Given the description of an element on the screen output the (x, y) to click on. 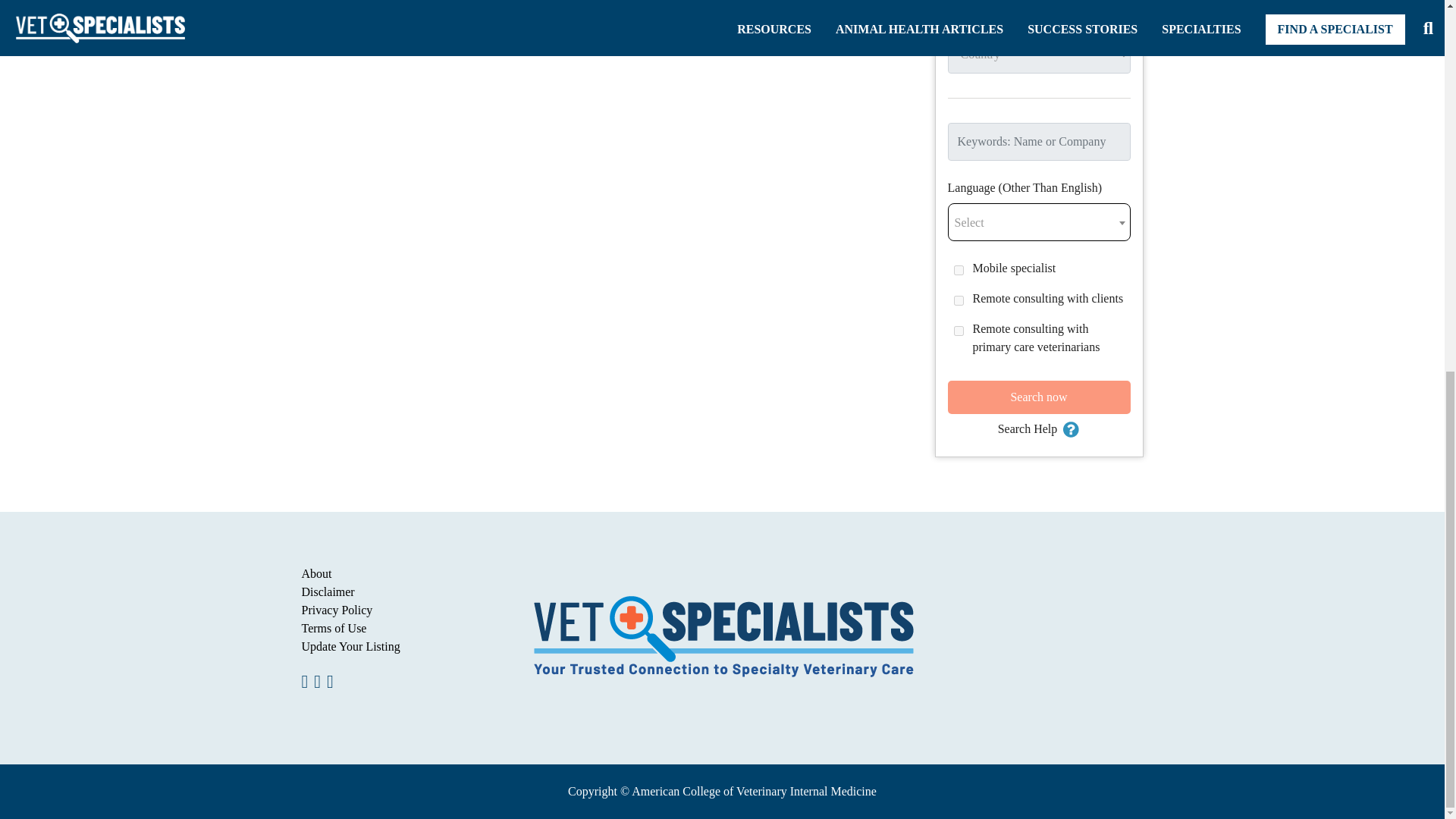
on (958, 330)
on (958, 300)
on (958, 270)
logo-footer (722, 638)
